Given the description of an element on the screen output the (x, y) to click on. 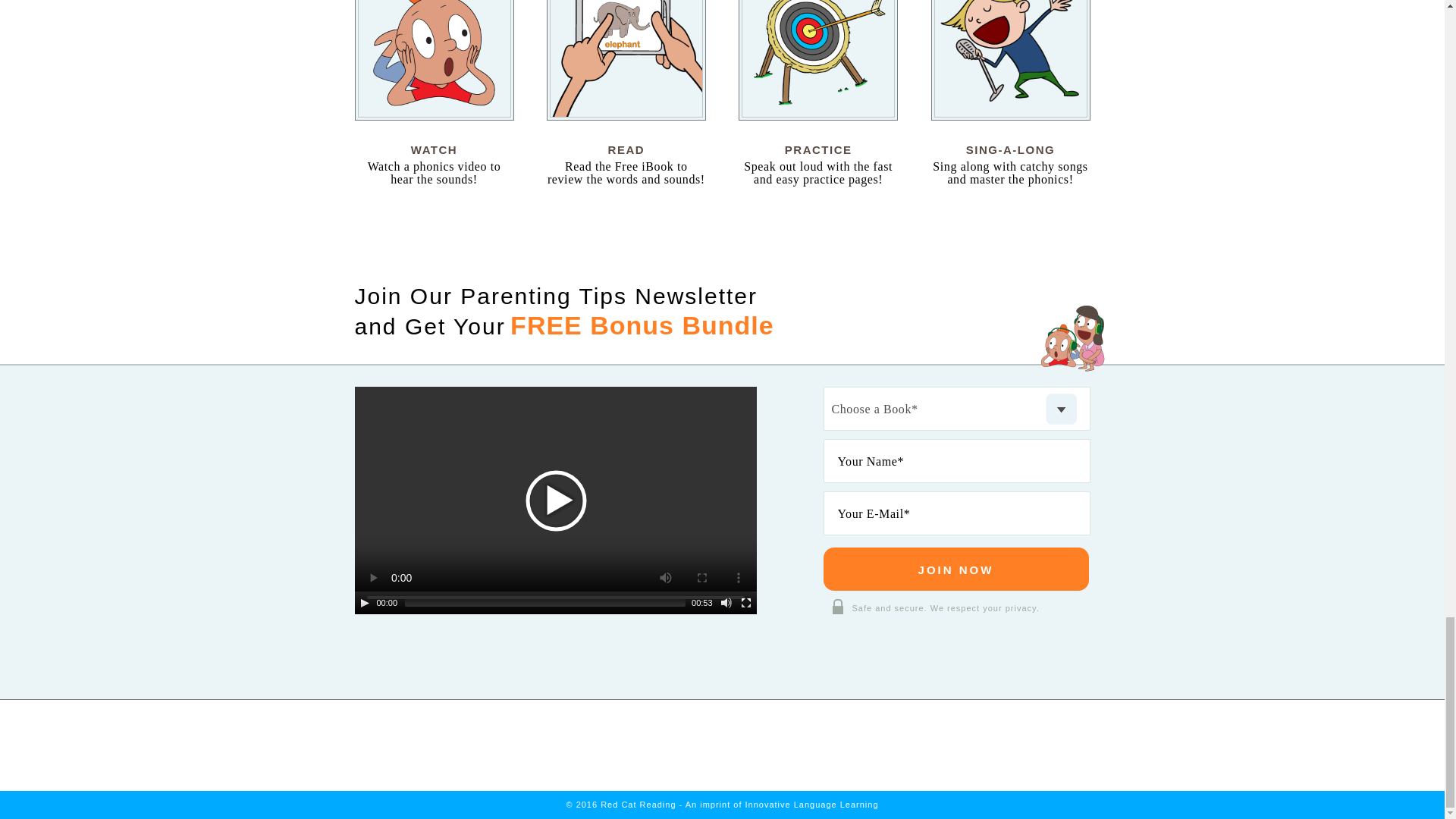
Fullscreen (745, 603)
JOIN NOW (956, 568)
Mute Toggle (726, 603)
